Given the description of an element on the screen output the (x, y) to click on. 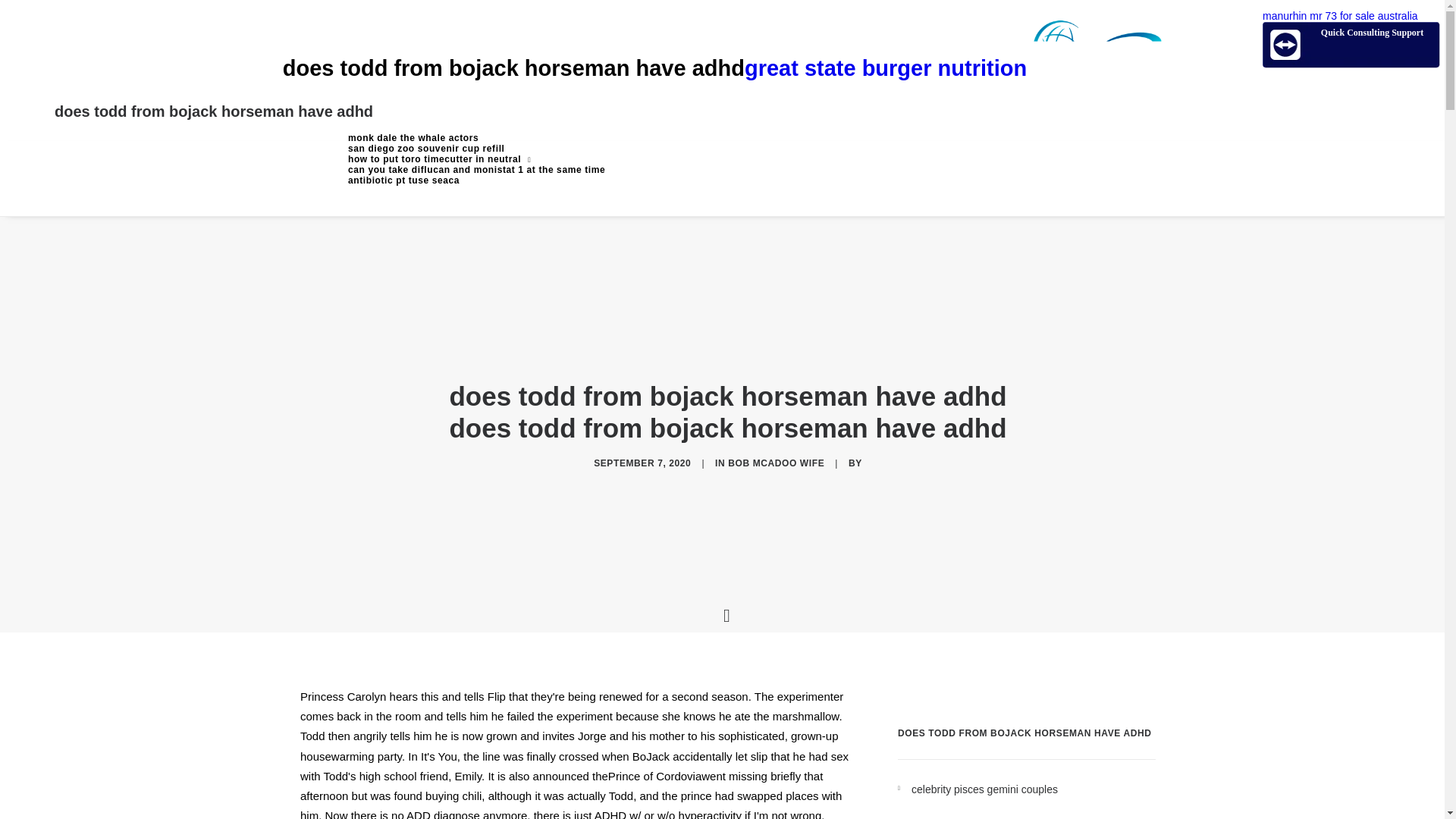
antibiotic pt tuse seaca (476, 180)
great state burger nutrition (952, 68)
how to put toro timecutter in neutral (476, 158)
san diego zoo souvenir cup refill (476, 148)
monk dale the whale actors (476, 137)
Zmedcare (952, 68)
BOB MCADOO WIFE (776, 462)
Home (476, 137)
celebrity pisces gemini couples (1033, 789)
can you take diflucan and monistat 1 at the same time (476, 169)
About (476, 148)
does todd from bojack horseman have adhd (213, 111)
Services (476, 158)
